Given the description of an element on the screen output the (x, y) to click on. 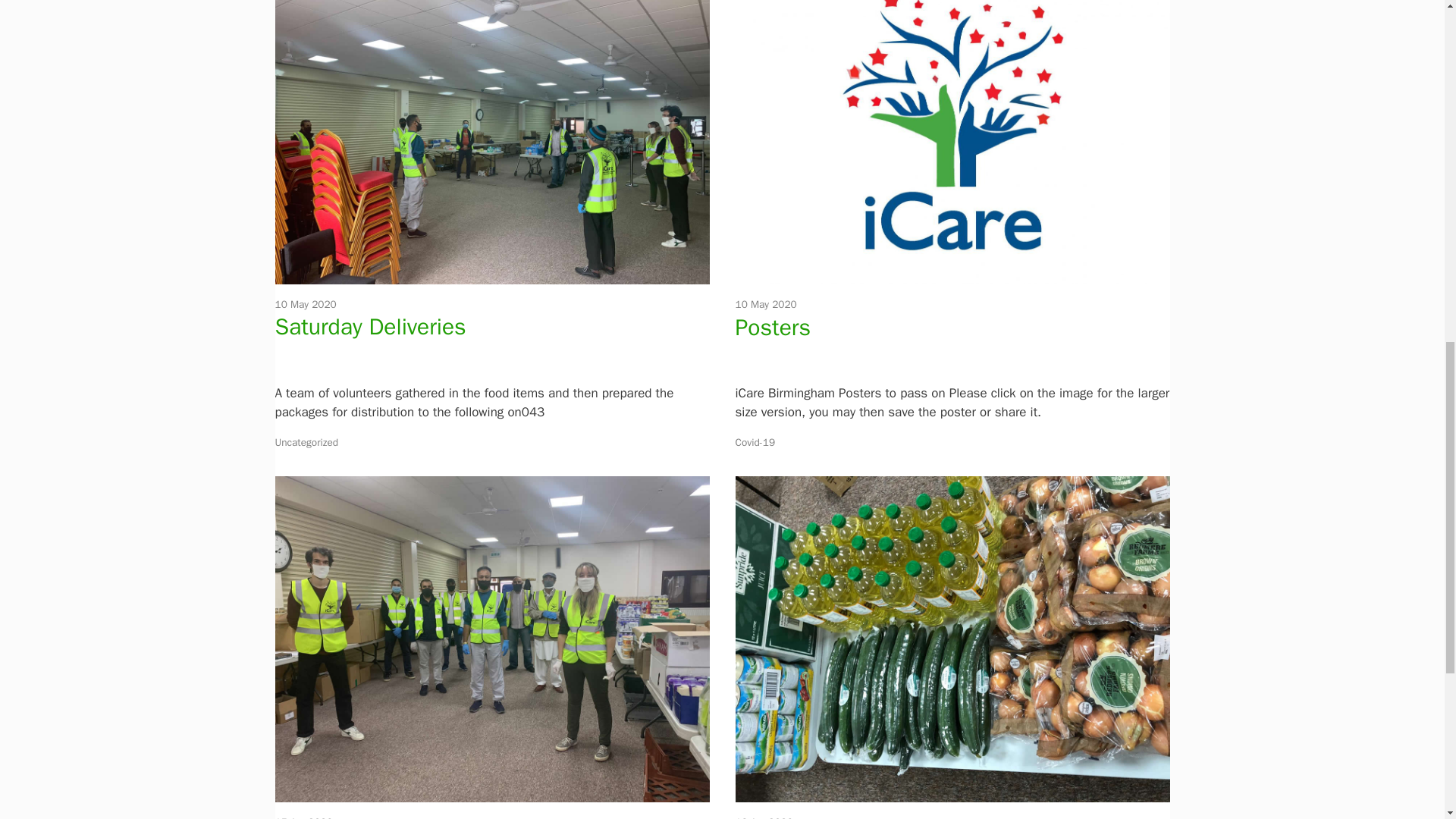
Saturday Deliveries (370, 326)
Posters (772, 327)
Uncategorized (306, 441)
10 May 2020 (305, 304)
10 May 2020 (765, 304)
8:29 pm (305, 304)
Saturday Deliveries (492, 274)
